Given the description of an element on the screen output the (x, y) to click on. 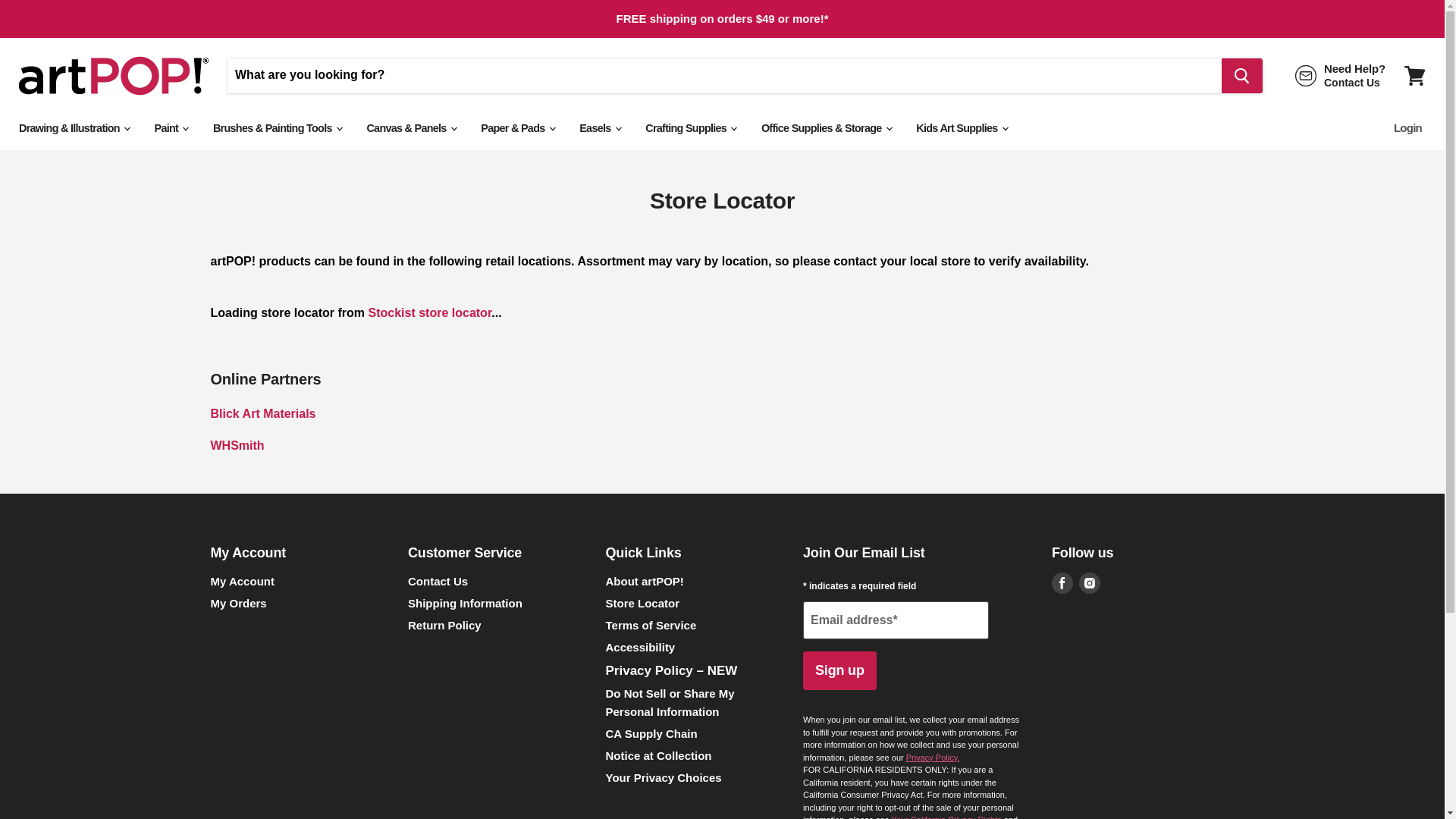
Privacy Policy (932, 757)
Instagram (1089, 582)
Paint (170, 128)
Facebook (1062, 582)
View cart (1414, 74)
